Given the description of an element on the screen output the (x, y) to click on. 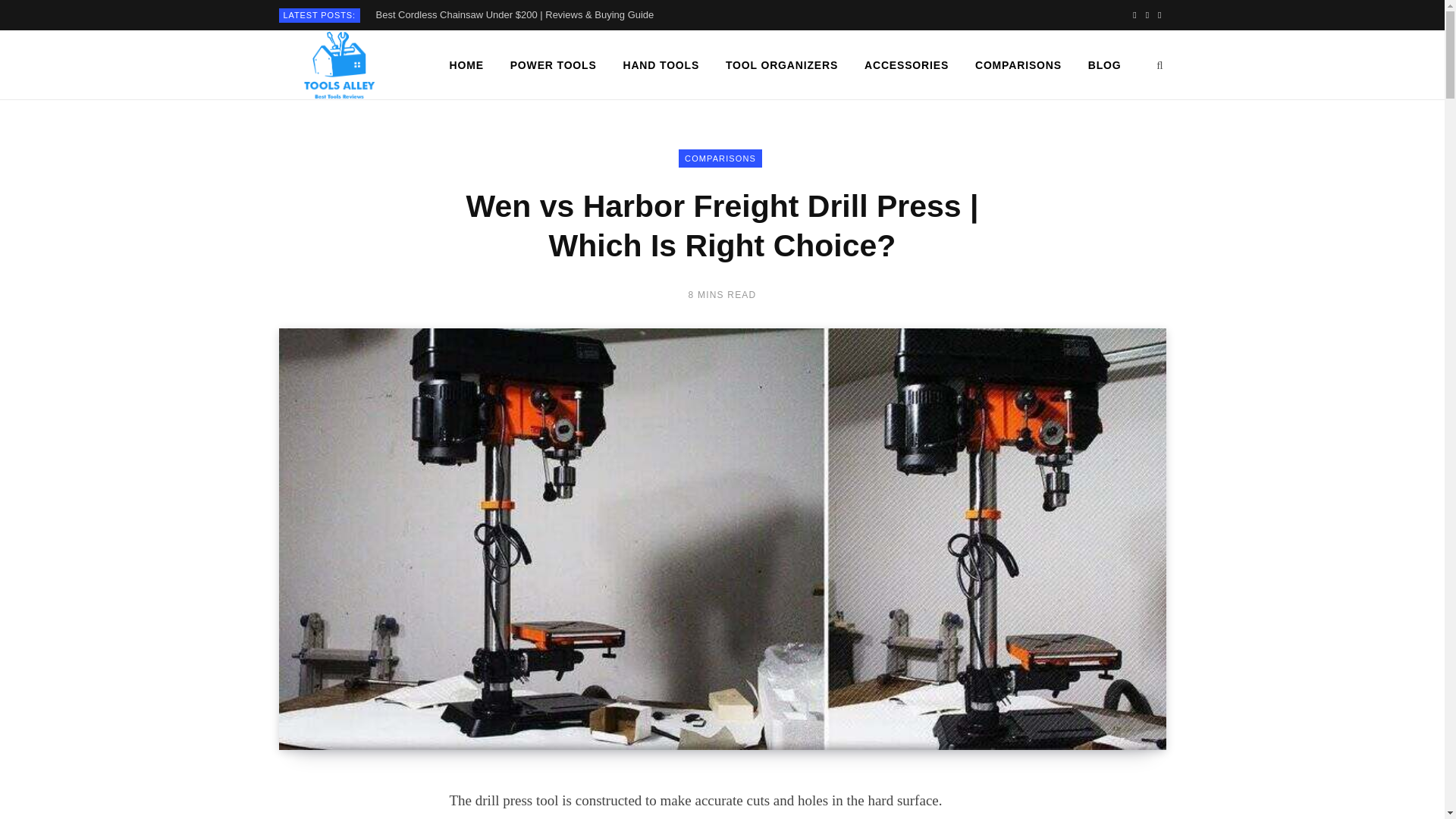
Tools Alley (338, 65)
COMPARISONS (1018, 65)
TOOL ORGANIZERS (781, 65)
ACCESSORIES (906, 65)
COMPARISONS (719, 158)
HAND TOOLS (660, 65)
POWER TOOLS (553, 65)
